Given the description of an element on the screen output the (x, y) to click on. 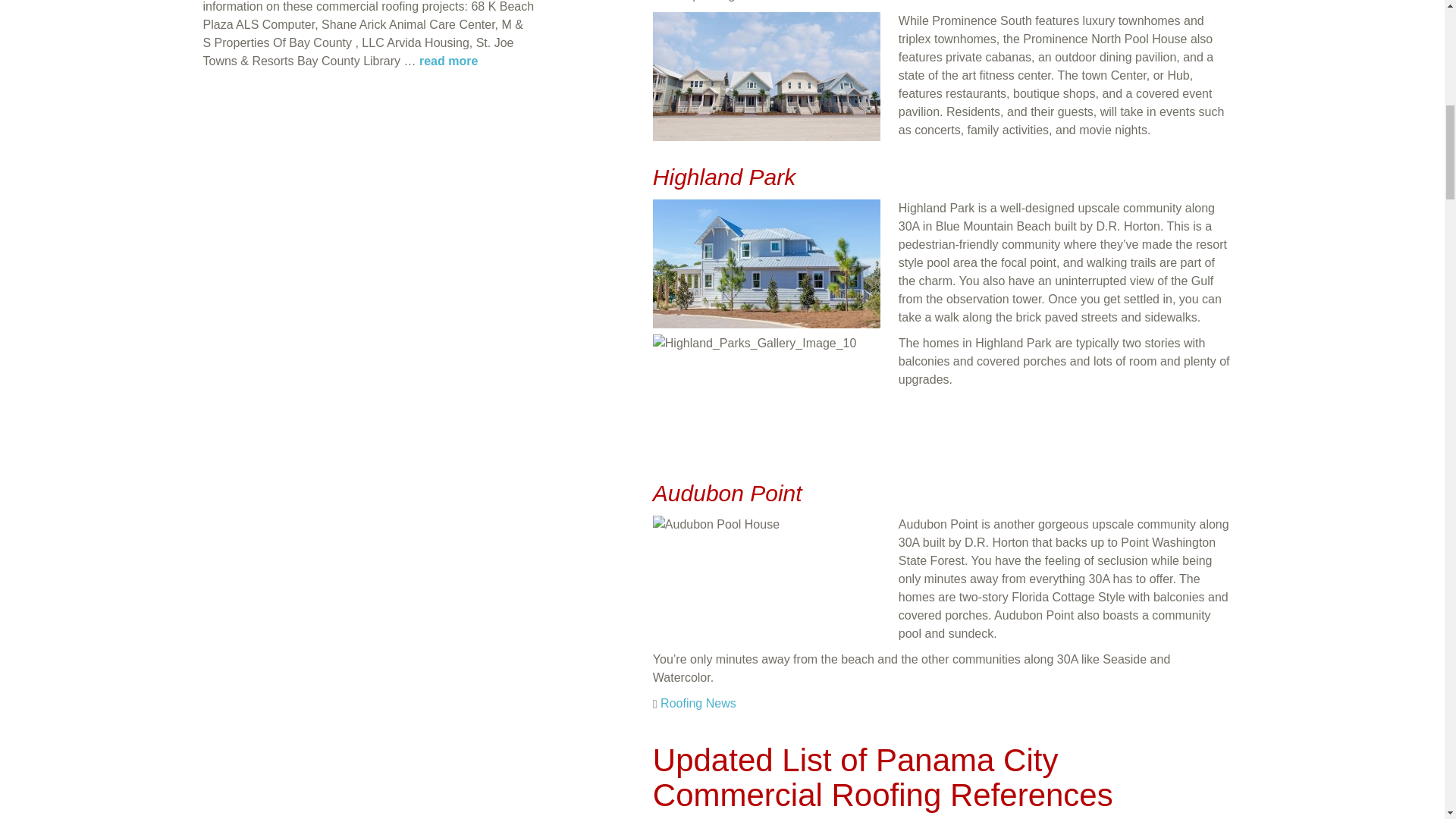
Roofing News (698, 703)
Updated List of Panama City Commercial Roofing References (882, 777)
read more (448, 60)
